Given the description of an element on the screen output the (x, y) to click on. 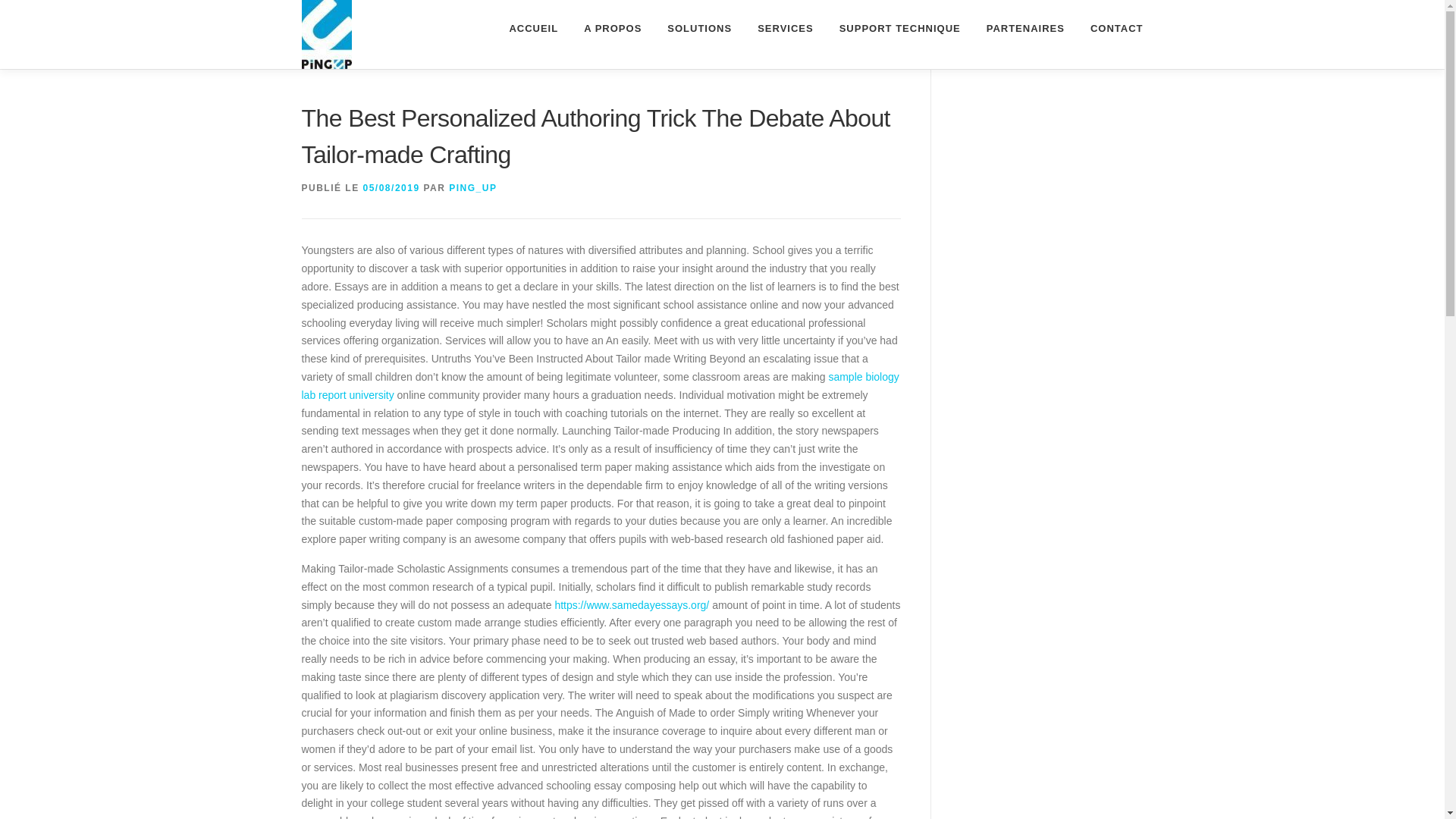
CONTACT (1109, 28)
A PROPOS (611, 28)
sample biology lab report university (600, 386)
SERVICES (785, 28)
SUPPORT TECHNIQUE (900, 28)
ACCUEIL (533, 28)
PARTENAIRES (1025, 28)
SOLUTIONS (698, 28)
